Given the description of an element on the screen output the (x, y) to click on. 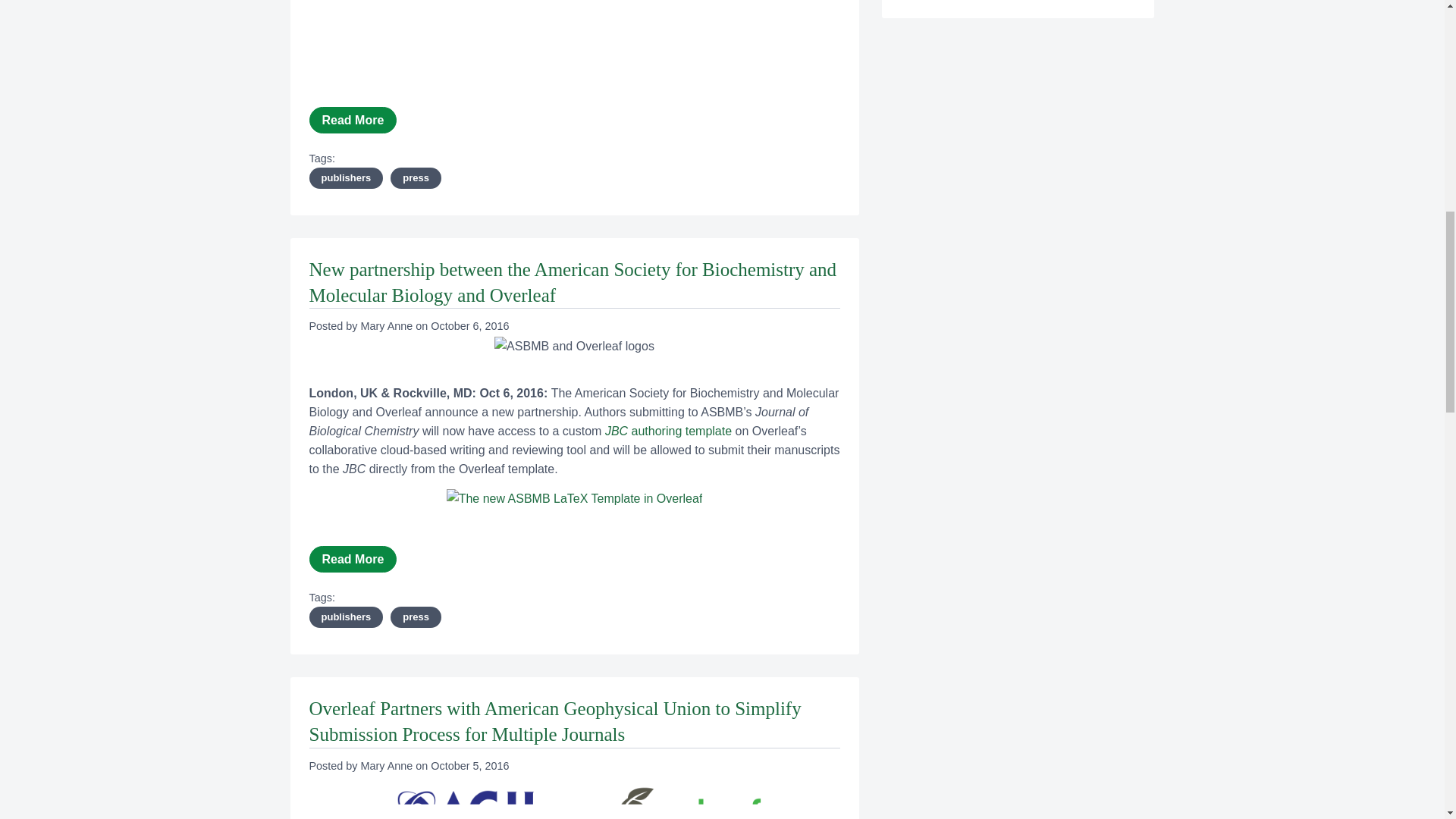
Read More (352, 120)
publishers (346, 617)
press (415, 617)
publishers (346, 178)
Read More (352, 559)
press (415, 178)
JBC authoring template (670, 431)
